Given the description of an element on the screen output the (x, y) to click on. 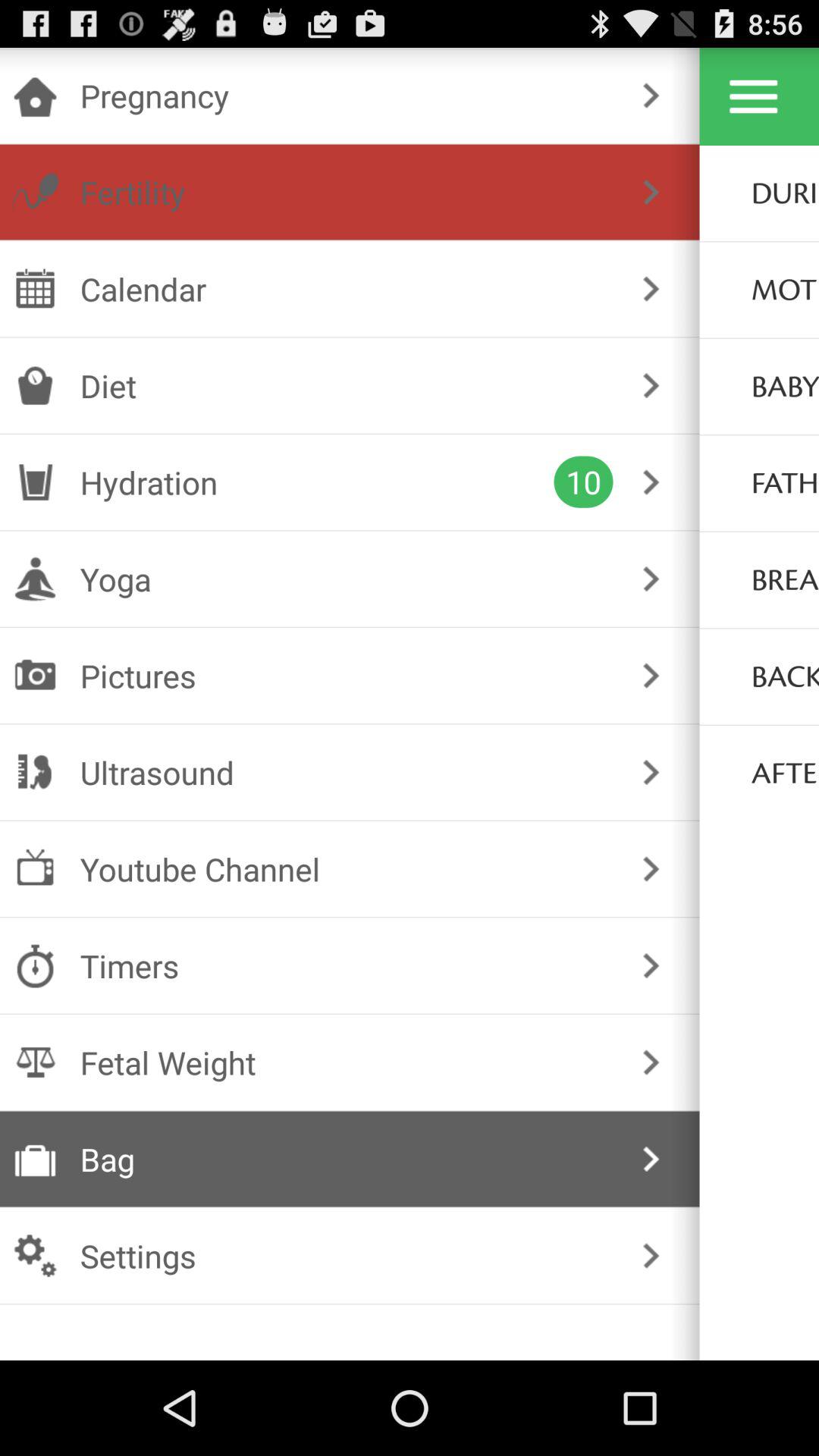
turn off icon below bag (346, 1255)
